Given the description of an element on the screen output the (x, y) to click on. 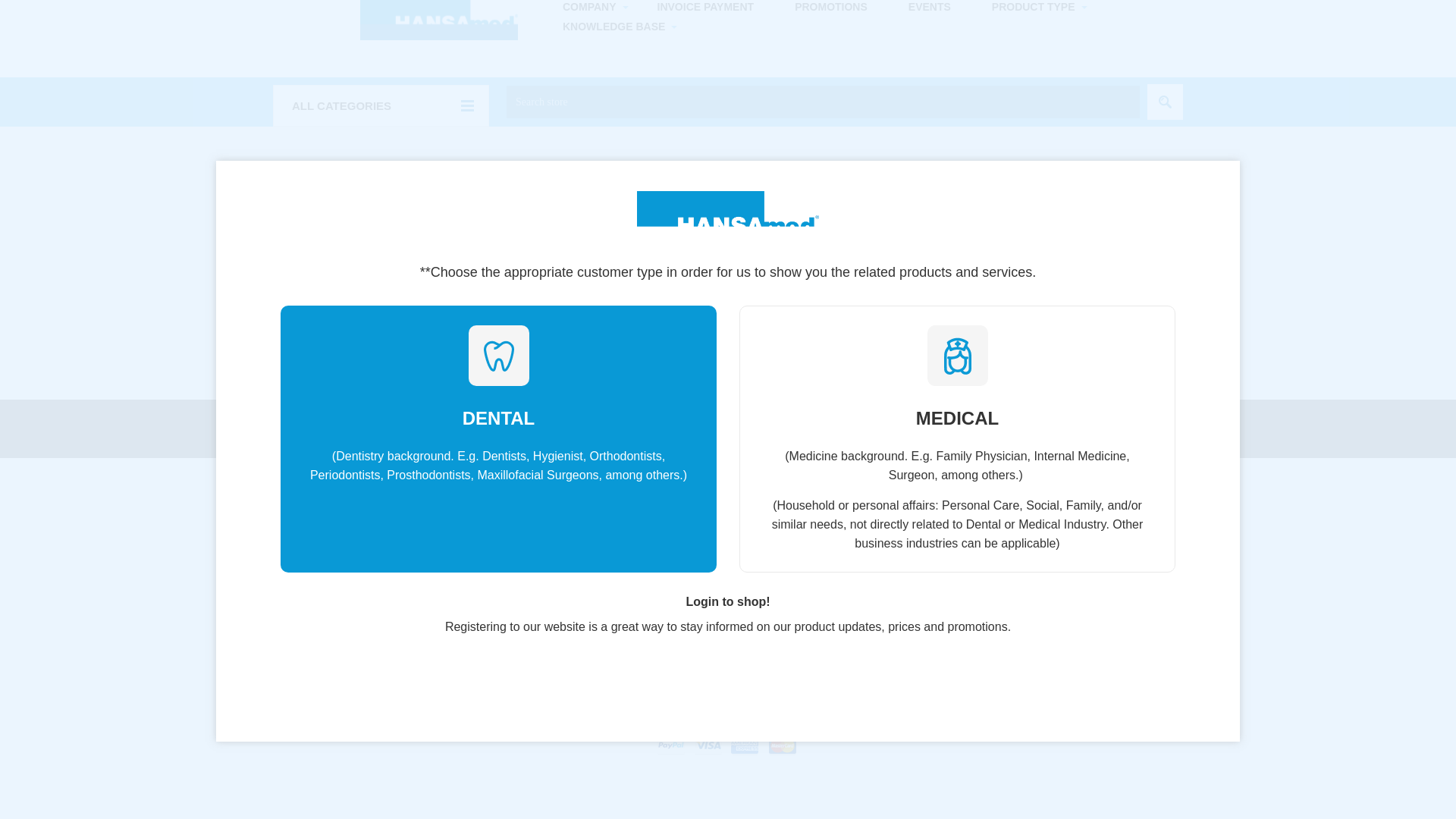
INVOICE PAYMENT (705, 8)
Product Type (1033, 8)
KNOWLEDGE BASE (613, 26)
Invoice Payment (705, 8)
Company (589, 8)
Knowledge Base (613, 26)
Events (929, 8)
PROMOTIONS (831, 8)
EVENTS (929, 8)
Promotions (831, 8)
PRODUCT TYPE (1033, 8)
COMPANY (589, 8)
